Given the description of an element on the screen output the (x, y) to click on. 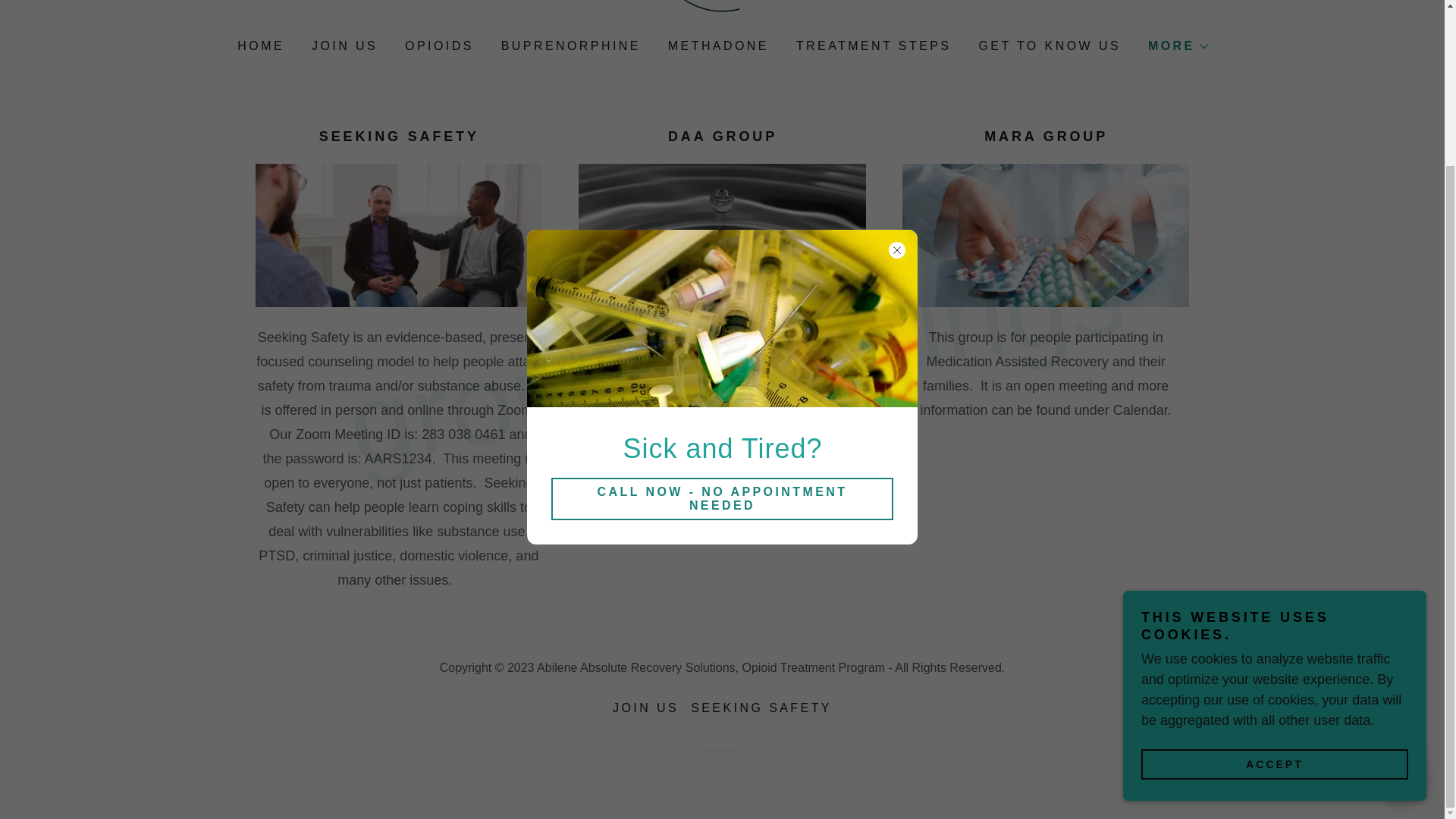
TREATMENT STEPS (872, 45)
OPIOIDS (438, 45)
BUPRENORPHINE (569, 45)
GET TO KNOW US (1048, 45)
HOME (259, 45)
JOIN US (342, 45)
METHADONE (717, 45)
MORE (1176, 45)
